Given the description of an element on the screen output the (x, y) to click on. 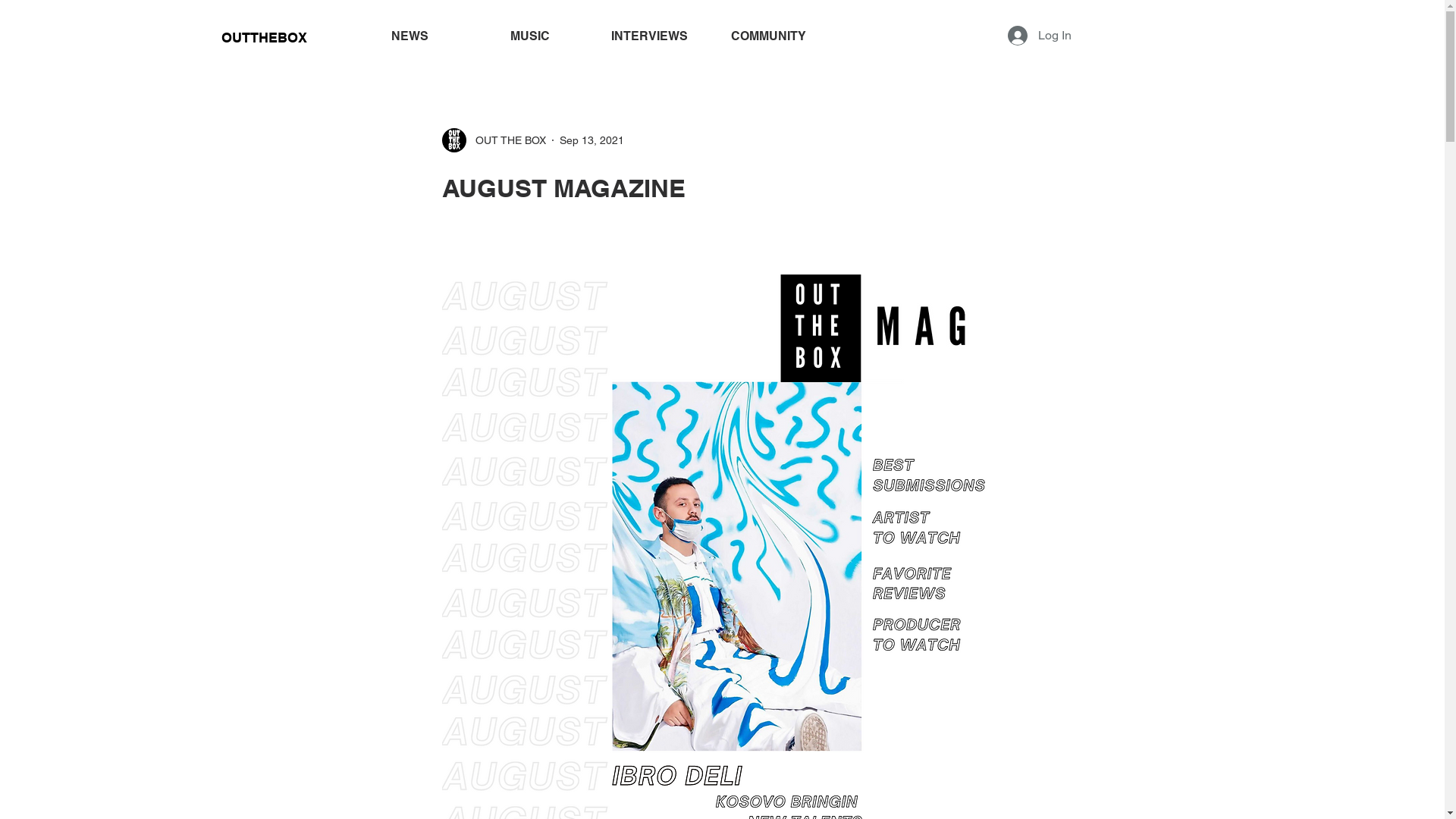
OUTTHEBOX  Element type: text (265, 37)
COMMUNITY Element type: text (769, 35)
INTERVIEWS Element type: text (651, 35)
MUSIC Element type: text (531, 35)
OUT THE BOX Element type: text (493, 140)
NEWS Element type: text (411, 35)
Log In Element type: text (1038, 35)
